Given the description of an element on the screen output the (x, y) to click on. 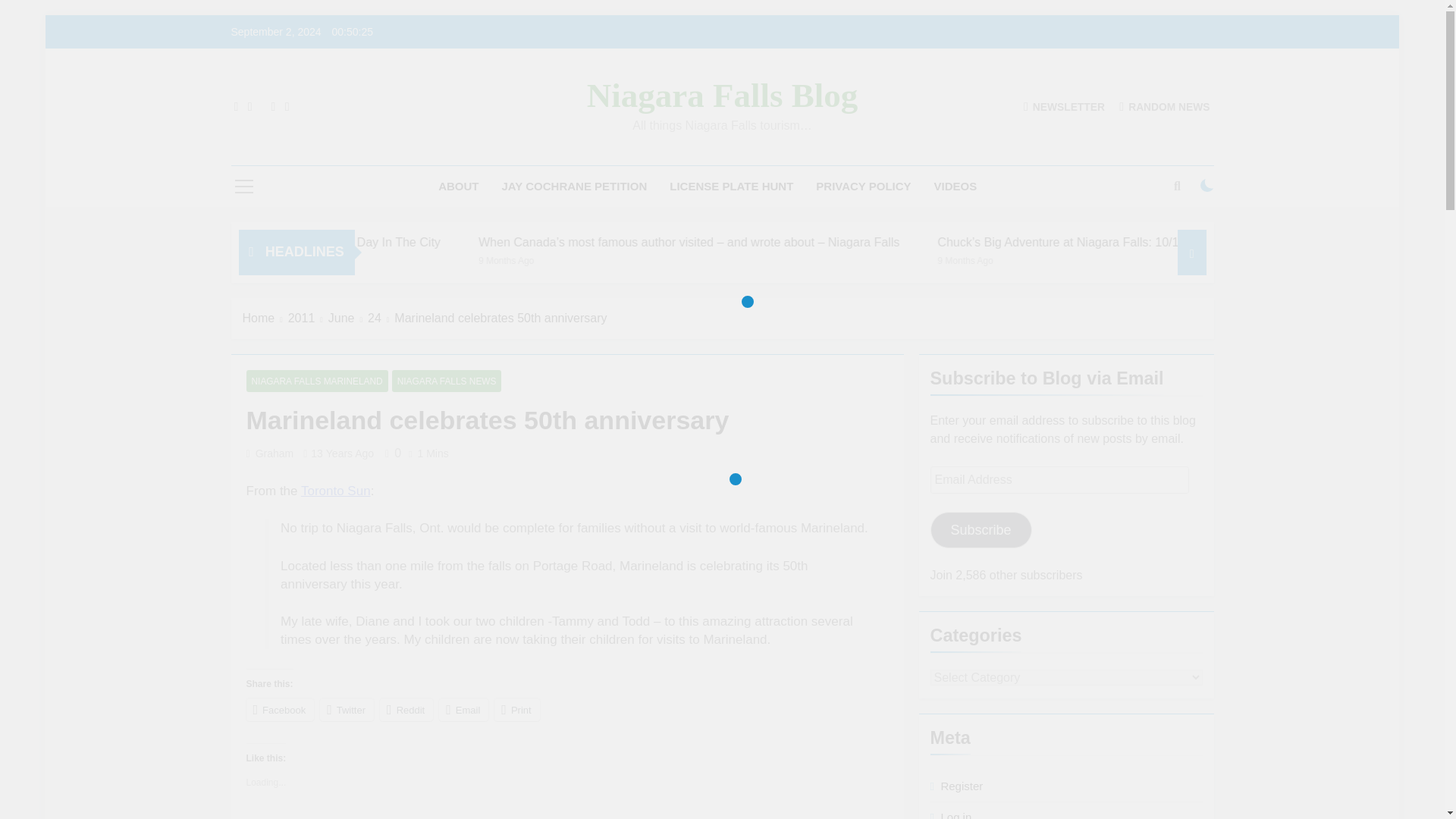
9 Months Ago (1181, 259)
on (1206, 185)
Niagara Falls Blog (722, 95)
LICENSE PLATE HUNT (731, 186)
RANDOM NEWS (1164, 106)
JAY COCHRANE PETITION (574, 186)
ABOUT (457, 186)
